Given the description of an element on the screen output the (x, y) to click on. 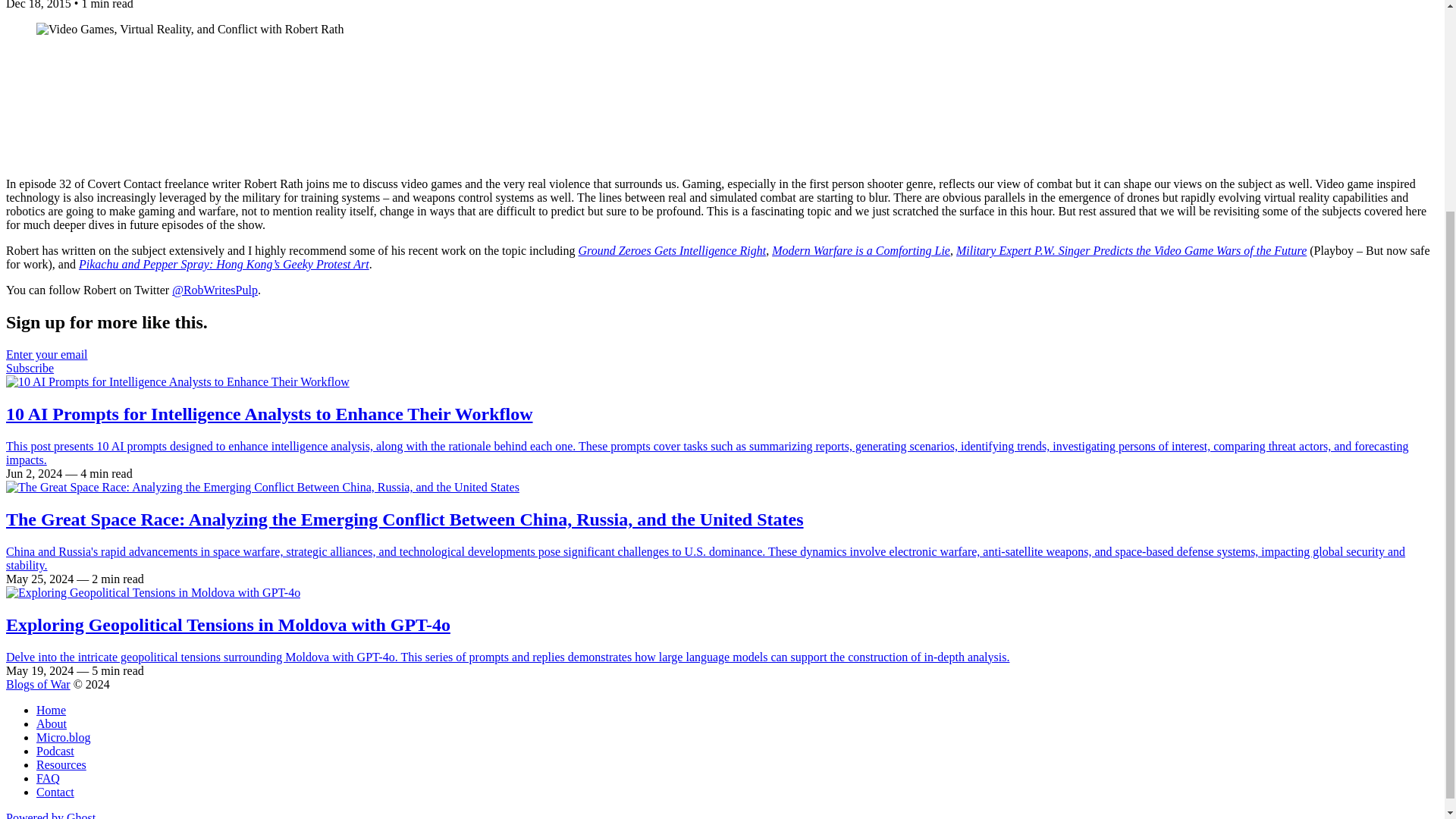
About (51, 723)
Modern Warfare is a Comforting Lie (860, 250)
Micro.blog (63, 737)
Home (50, 709)
Podcast (55, 750)
Ground Zeroes Gets Intelligence Right (671, 250)
Blogs of War (37, 684)
FAQ (47, 778)
Contact (55, 791)
Resources (60, 764)
